Given the description of an element on the screen output the (x, y) to click on. 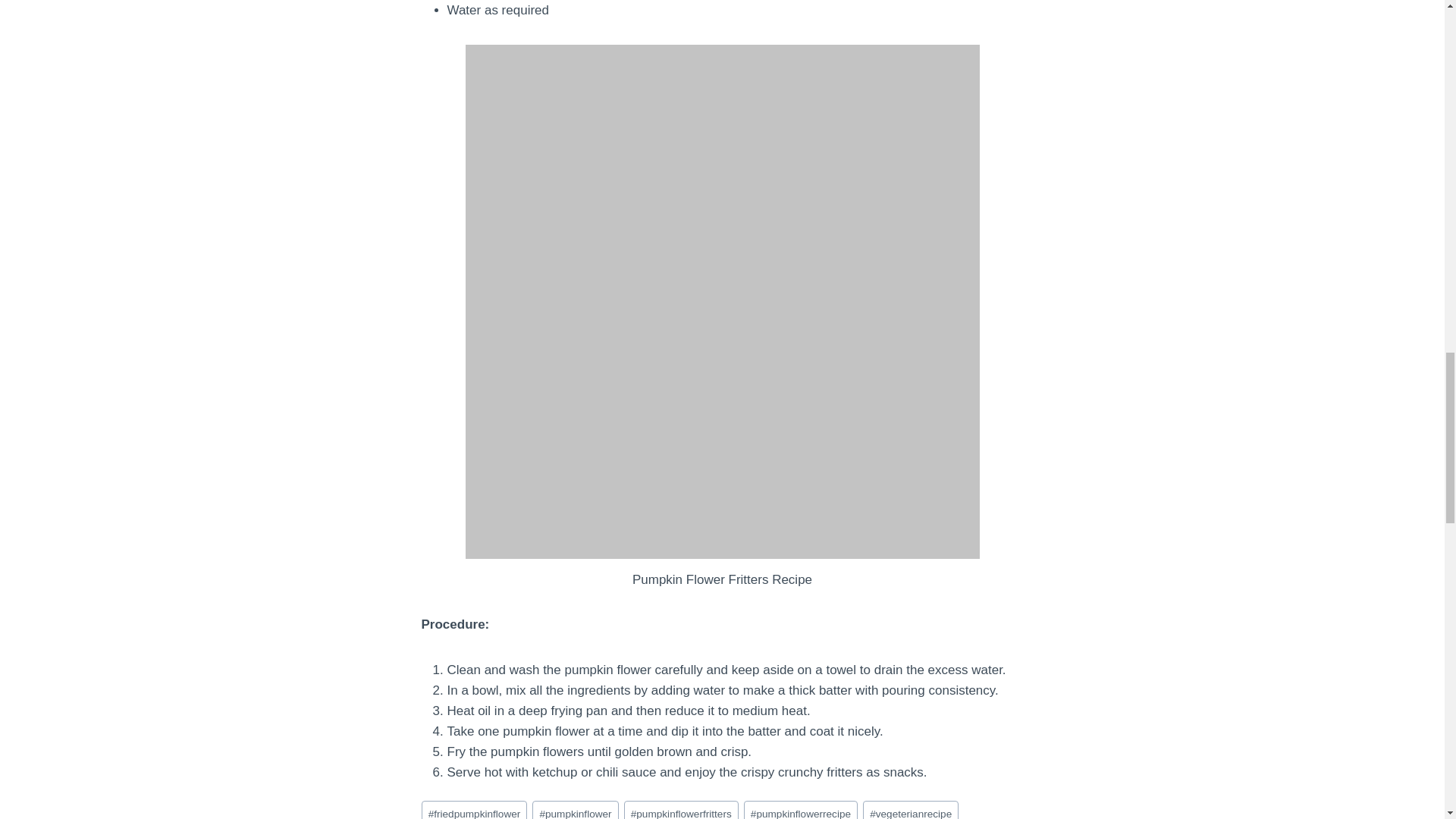
pumpkinflower (575, 809)
vegeterianrecipe (910, 809)
pumpkinflowerrecipe (801, 809)
pumpkinflowerfritters (681, 809)
friedpumpkinflower (474, 809)
